Given the description of an element on the screen output the (x, y) to click on. 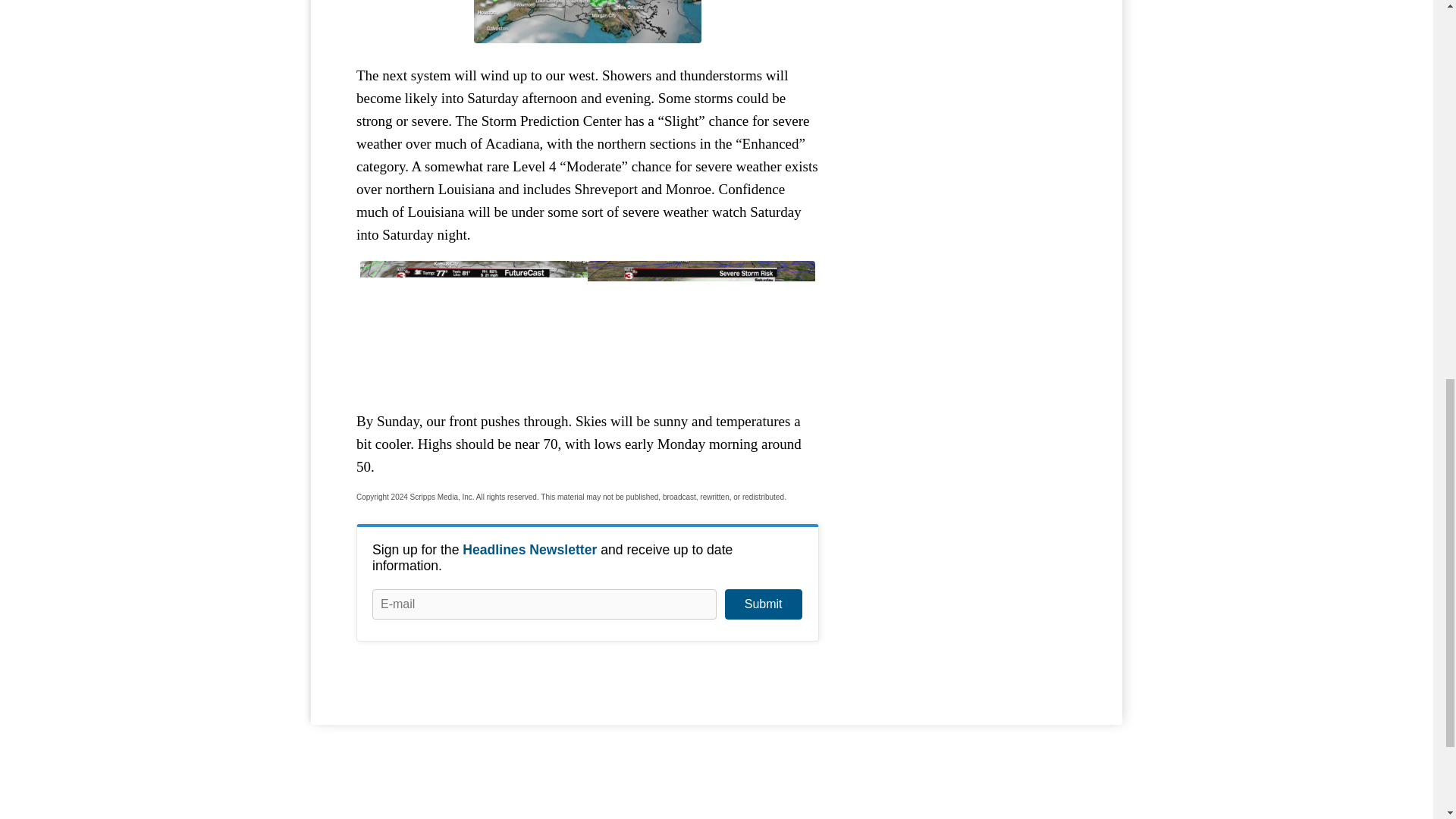
Submit (763, 603)
